Given the description of an element on the screen output the (x, y) to click on. 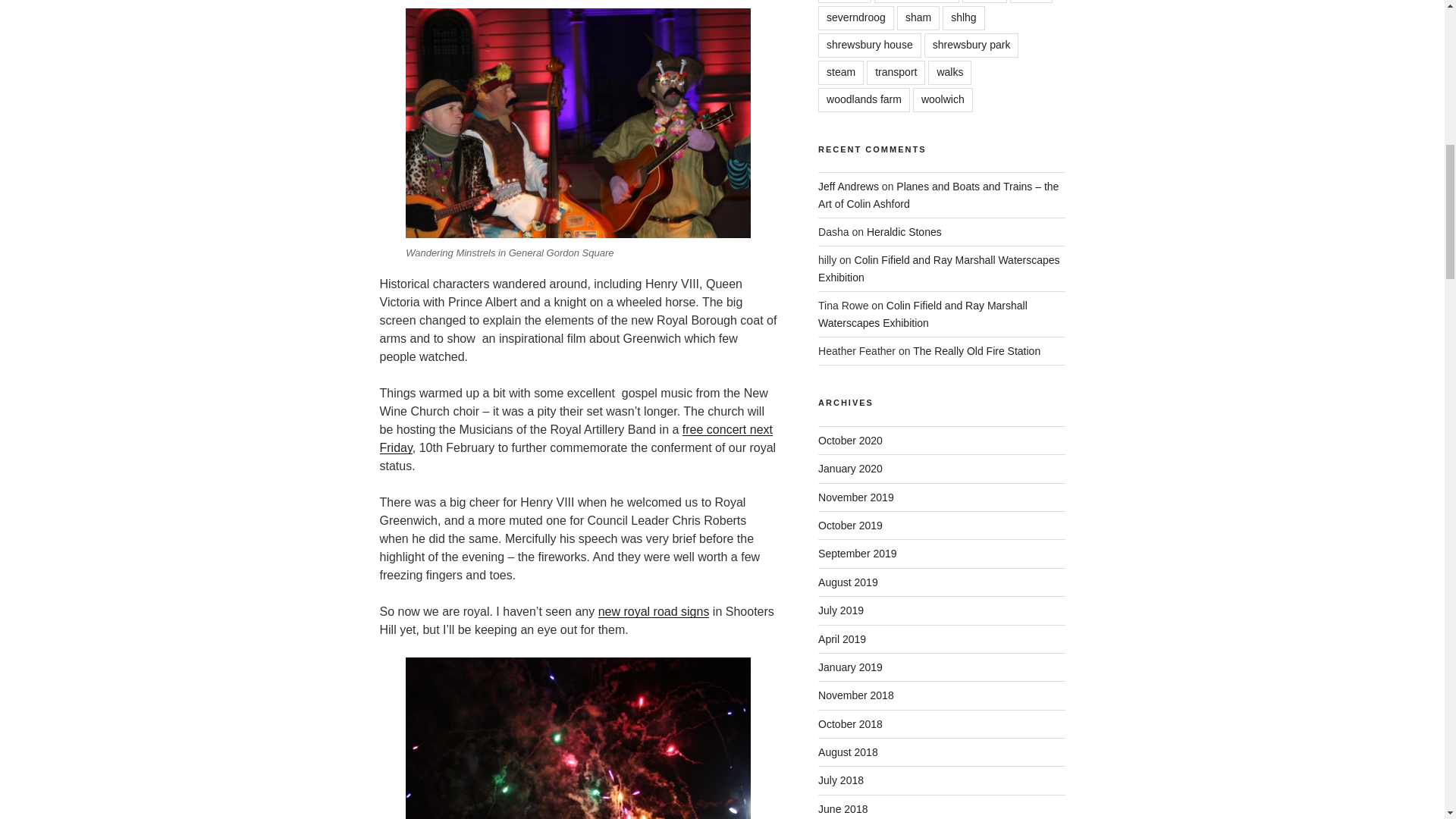
Royal Borough of Greenwich Fireworks Celebration, Woolwich (578, 738)
Wandering Minstrels in General Gordon Square (578, 123)
free concert next Friday (575, 438)
853 blog picture one of the new royal road signs  (654, 611)
new royal road signs (654, 611)
New Wine Church booking page for next Friday's concert (575, 438)
